Given the description of an element on the screen output the (x, y) to click on. 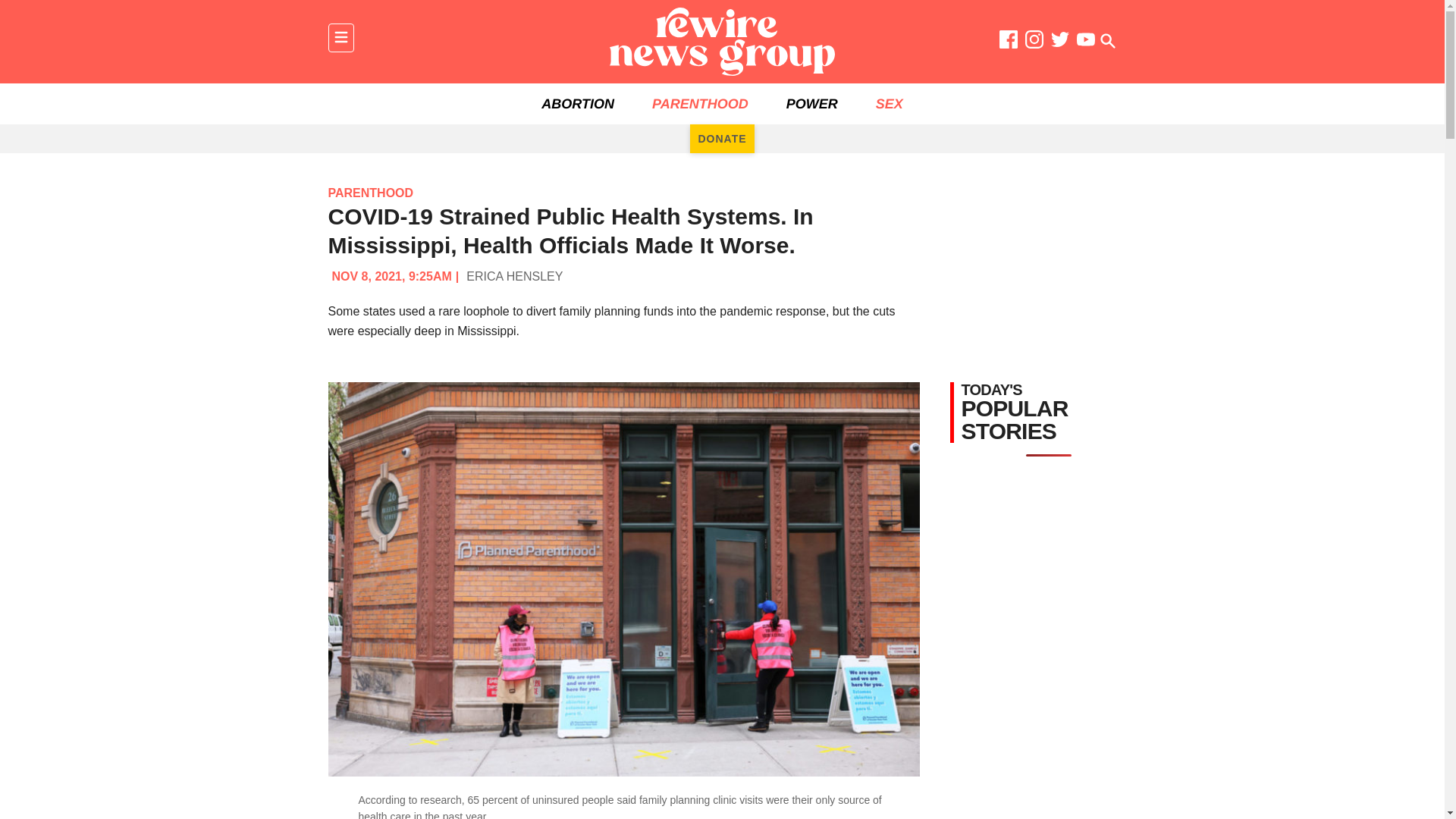
ABORTION (577, 103)
MENU (340, 37)
INSTAGRAM (1034, 41)
ERICA HENSLEY (513, 276)
PARENTHOOD (700, 103)
FACEBOOK (1007, 41)
POWER (812, 103)
SEX (889, 103)
PARENTHOOD (370, 192)
DONATE (722, 138)
